Given the description of an element on the screen output the (x, y) to click on. 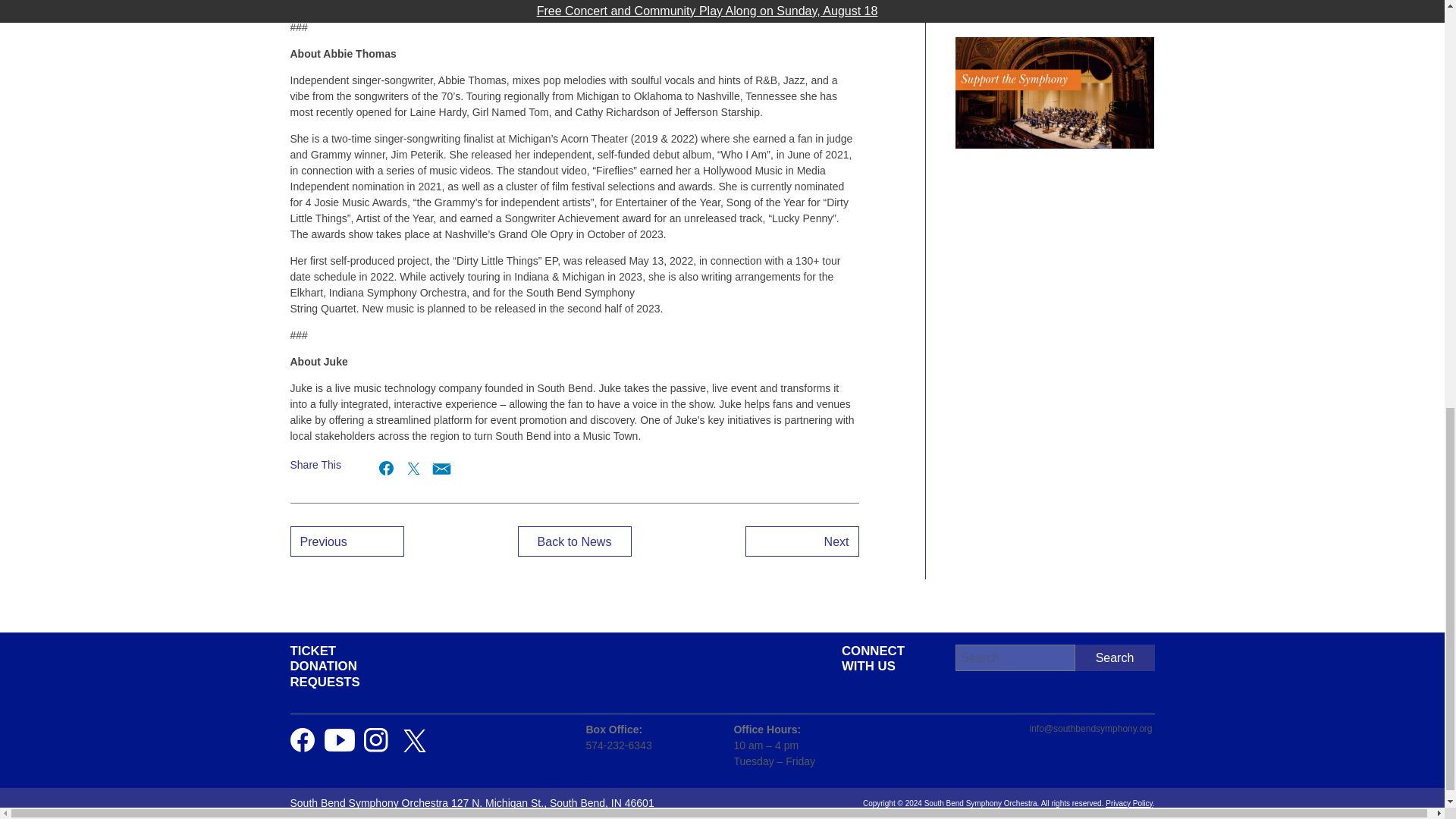
Share this on Twitter (412, 467)
Search (1114, 657)
Back to News (573, 541)
Next (801, 541)
Previous (346, 541)
Share this via email (439, 467)
Search (1114, 657)
Share this on Facebook (386, 467)
